Given the description of an element on the screen output the (x, y) to click on. 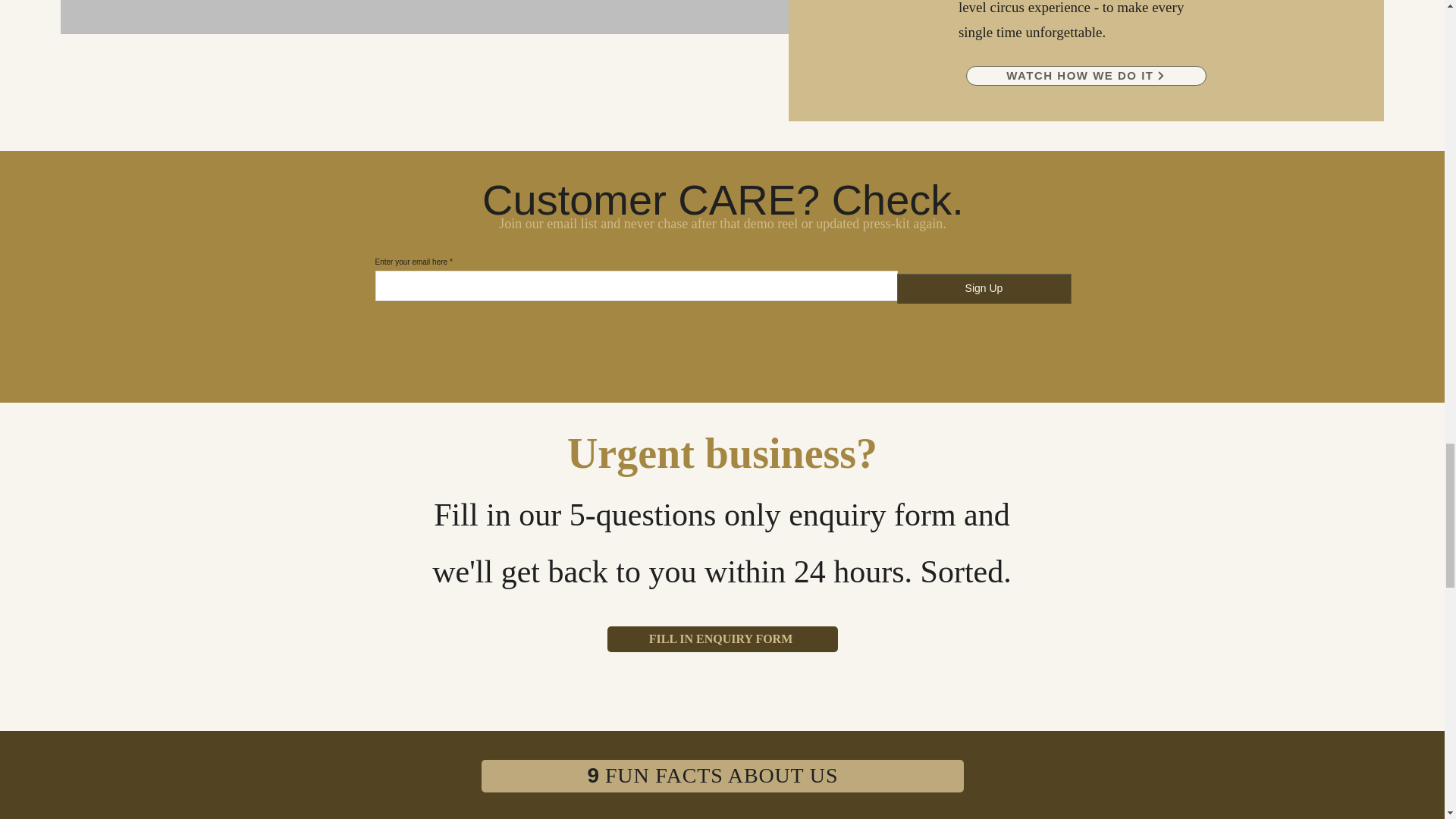
WATCH HOW WE DO IT (1086, 75)
FILL IN ENQUIRY FORM (722, 638)
Sign Up (983, 288)
